Given the description of an element on the screen output the (x, y) to click on. 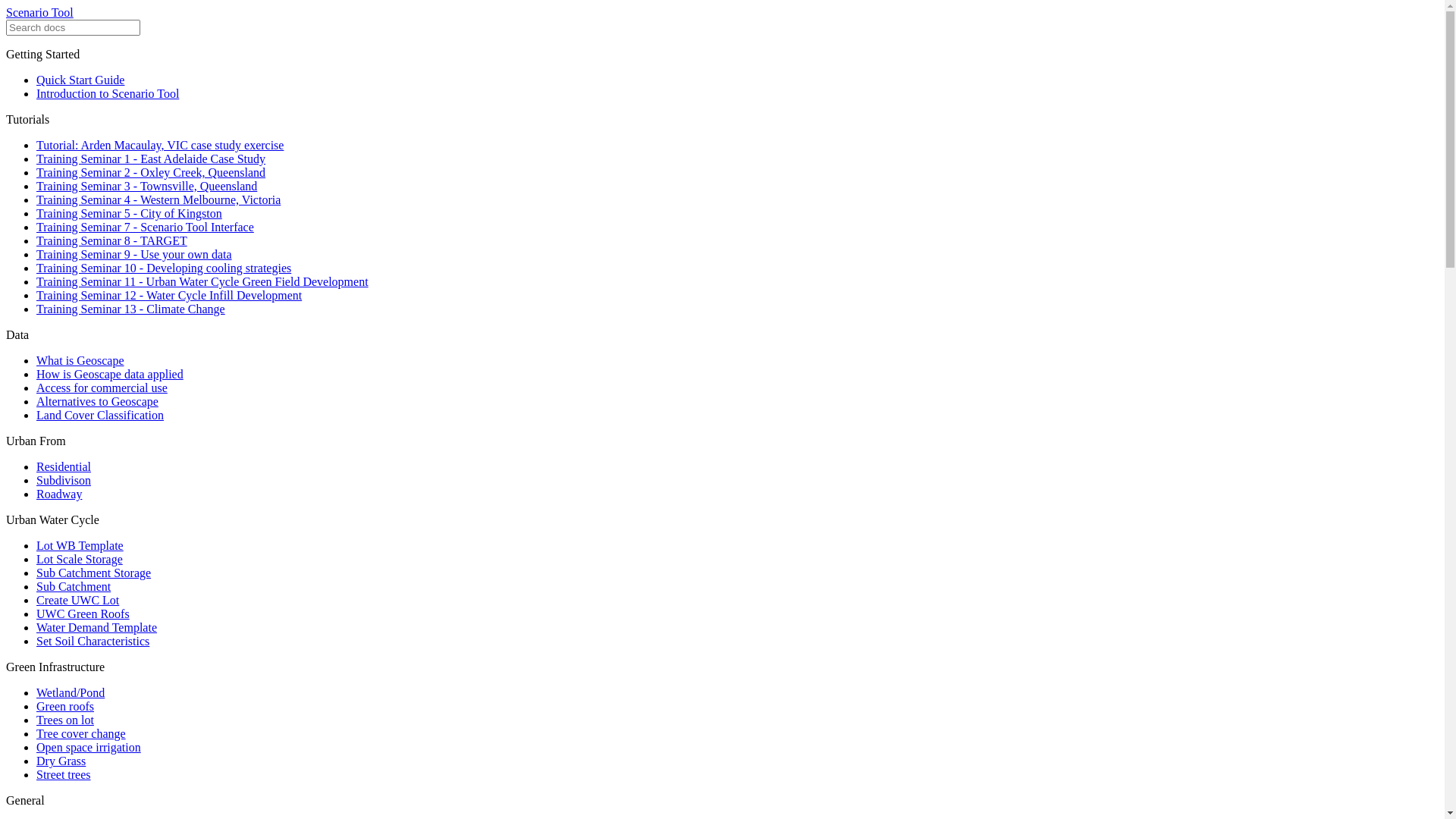
Training Seminar 10 - Developing cooling strategies Element type: text (163, 267)
Training Seminar 1 - East Adelaide Case Study Element type: text (150, 158)
Training Seminar 3 - Townsville, Queensland Element type: text (146, 185)
Tutorial: Arden Macaulay, VIC case study exercise Element type: text (159, 144)
Land Cover Classification Element type: text (99, 414)
UWC Green Roofs Element type: text (82, 613)
Lot WB Template Element type: text (79, 545)
Roadway Element type: text (58, 493)
Set Soil Characteristics Element type: text (92, 640)
Green roofs Element type: text (65, 705)
Training Seminar 13 - Climate Change Element type: text (130, 308)
Training Seminar 8 - TARGET Element type: text (111, 240)
How is Geoscape data applied Element type: text (109, 373)
Subdivison Element type: text (63, 479)
Create UWC Lot Element type: text (77, 599)
Dry Grass Element type: text (60, 760)
Trees on lot Element type: text (65, 719)
Street trees Element type: text (63, 774)
Training Seminar 7 - Scenario Tool Interface Element type: text (145, 226)
Training Seminar 12 - Water Cycle Infill Development Element type: text (168, 294)
Training Seminar 5 - City of Kingston Element type: text (129, 213)
Wetland/Pond Element type: text (70, 692)
Access for commercial use Element type: text (101, 387)
Open space irrigation Element type: text (88, 746)
Water Demand Template Element type: text (96, 627)
Residential Element type: text (63, 466)
Lot Scale Storage Element type: text (79, 558)
What is Geoscape Element type: text (80, 360)
Sub Catchment Element type: text (73, 586)
Training Seminar 2 - Oxley Creek, Queensland Element type: text (150, 172)
Tree cover change Element type: text (80, 733)
Introduction to Scenario Tool Element type: text (107, 93)
Quick Start Guide Element type: text (80, 79)
Sub Catchment Storage Element type: text (93, 572)
Training Seminar 4 - Western Melbourne, Victoria Element type: text (158, 199)
Scenario Tool Element type: text (39, 12)
Alternatives to Geoscape Element type: text (97, 401)
Training Seminar 9 - Use your own data Element type: text (134, 253)
